Given the description of an element on the screen output the (x, y) to click on. 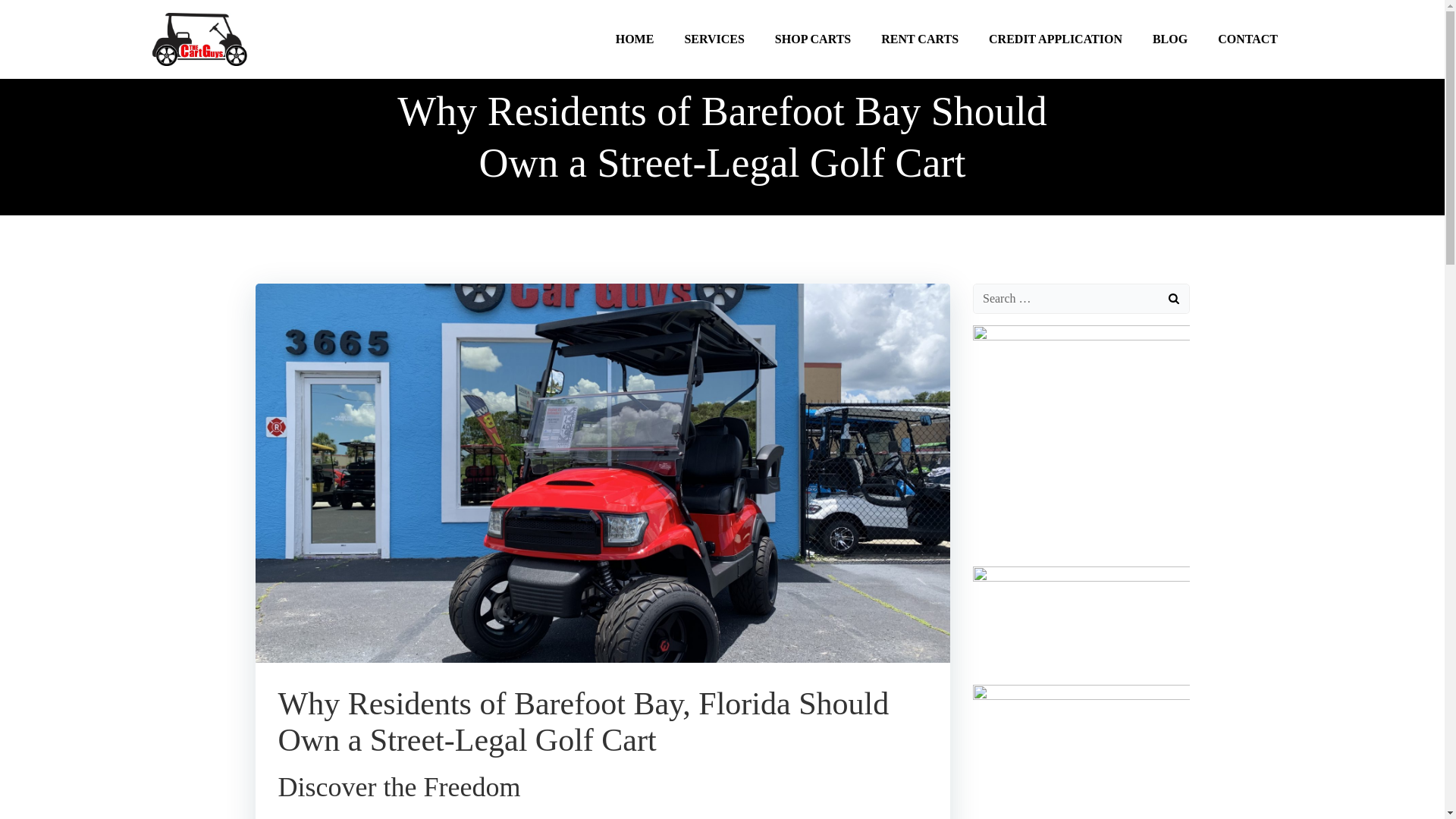
SHOP CARTS (812, 39)
SERVICES (714, 39)
RENT CARTS (919, 39)
BLOG (1170, 39)
HOME (634, 39)
Search  (29, 14)
CREDIT APPLICATION (1055, 39)
CONTACT (1247, 39)
